Given the description of an element on the screen output the (x, y) to click on. 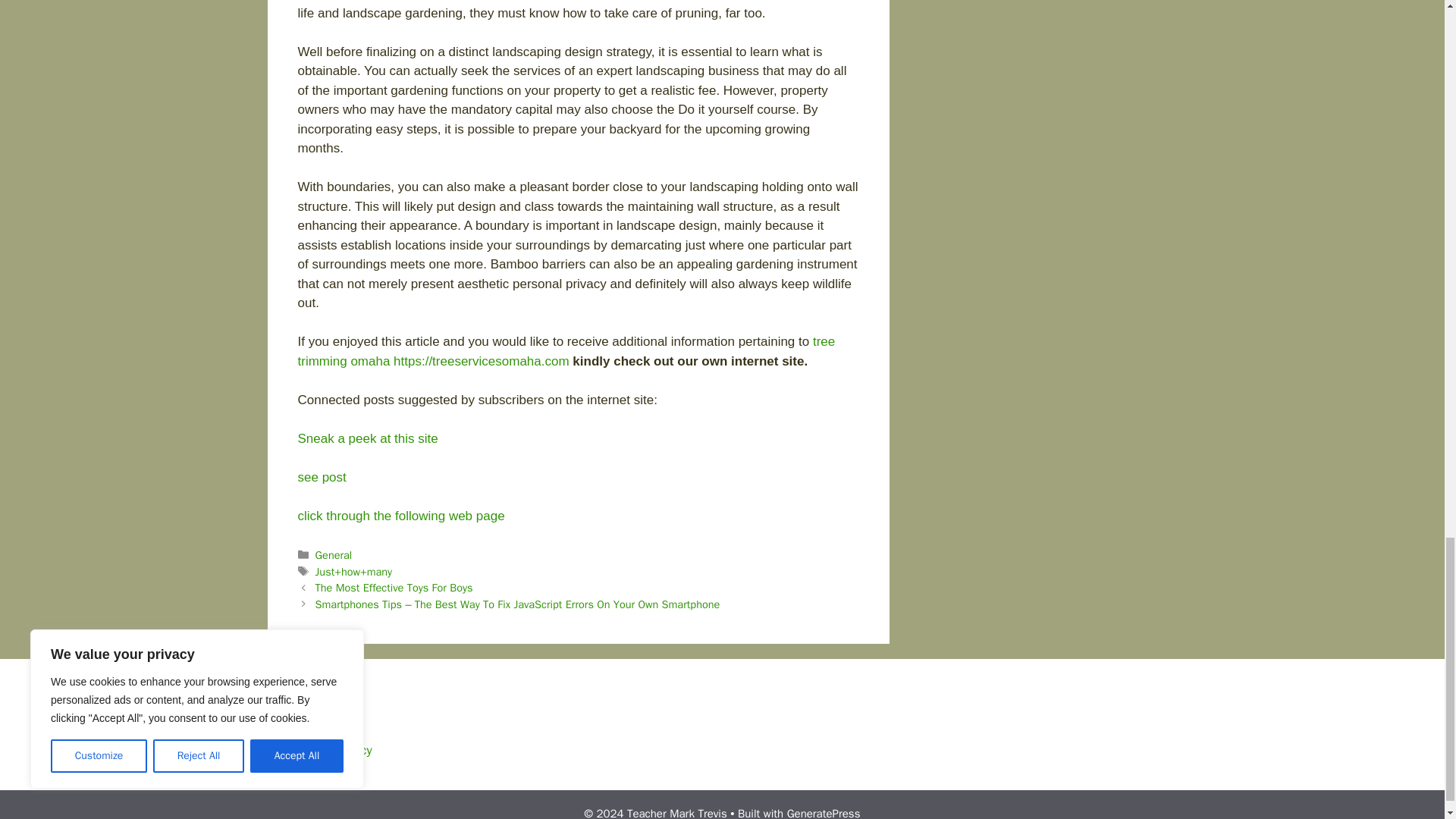
General (333, 554)
see post (321, 477)
click through the following web page (400, 515)
Sneak a peek at this site (367, 438)
The Most Effective Toys For Boys (394, 587)
